Given the description of an element on the screen output the (x, y) to click on. 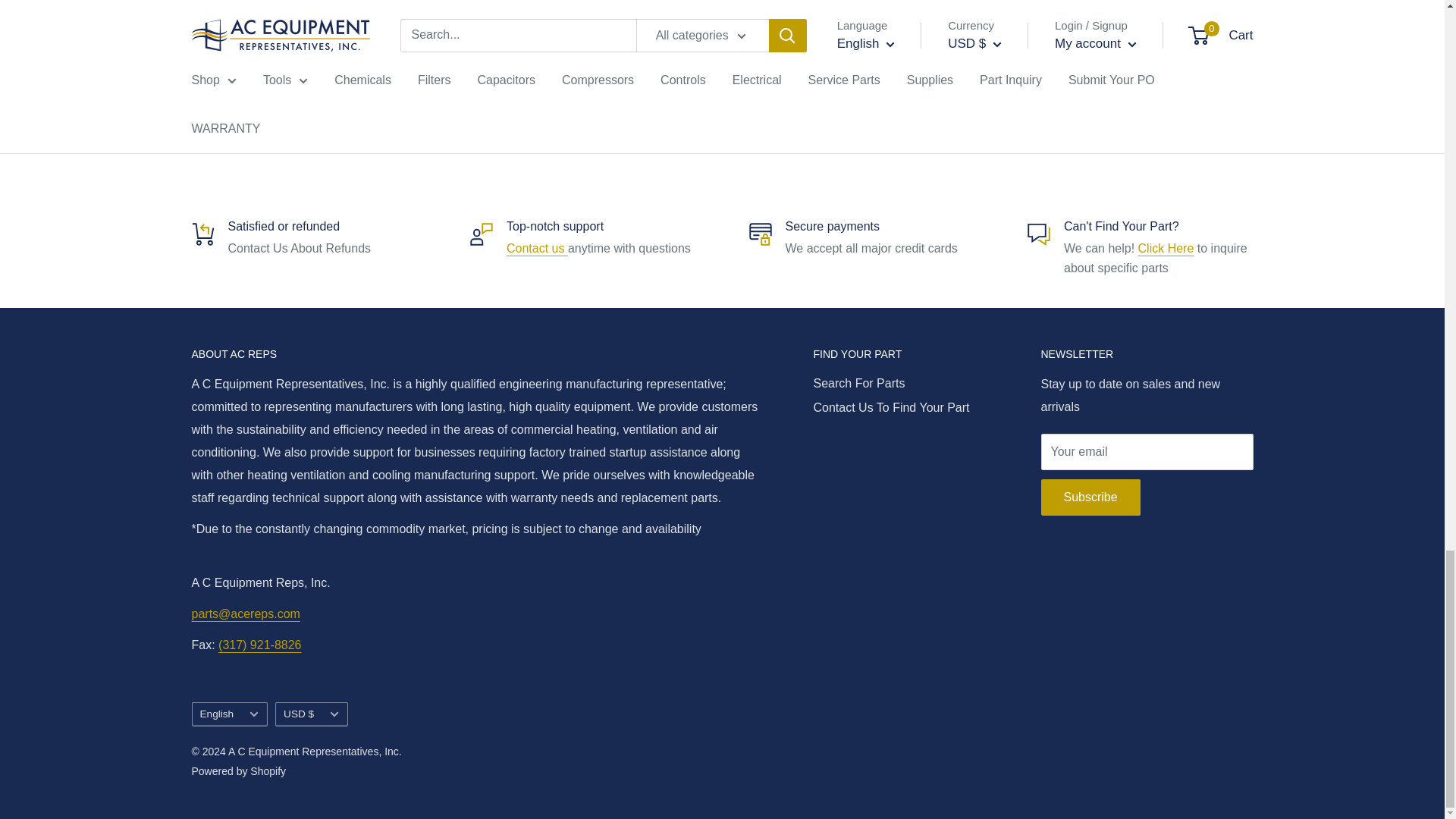
Navigate to page 2 (842, 113)
Next (1209, 113)
tel:3179218826 (259, 644)
Navigate to page 3 (868, 113)
Parts Inquiry (1165, 247)
